Given the description of an element on the screen output the (x, y) to click on. 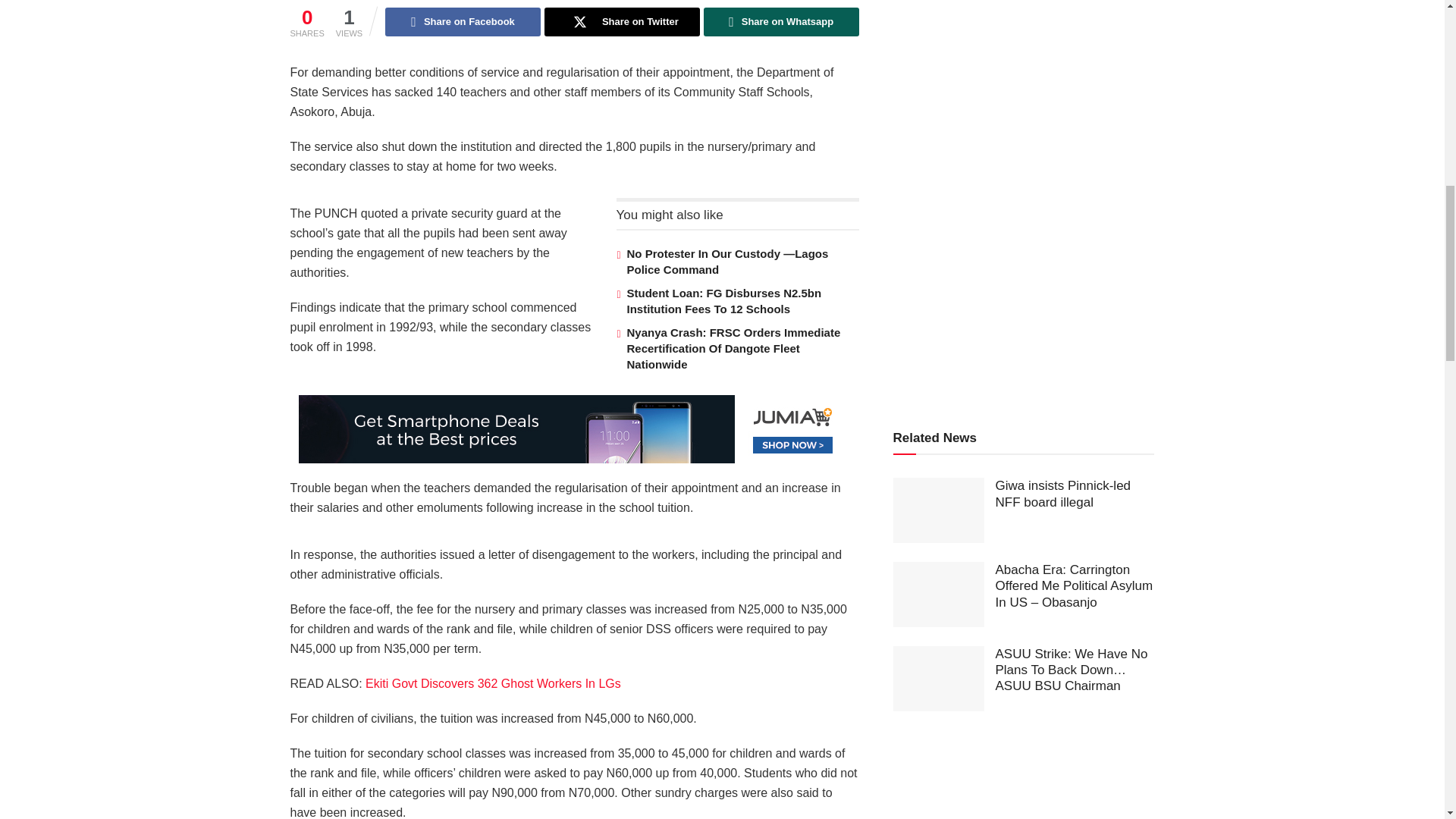
Advertisement (1031, 283)
